Given the description of an element on the screen output the (x, y) to click on. 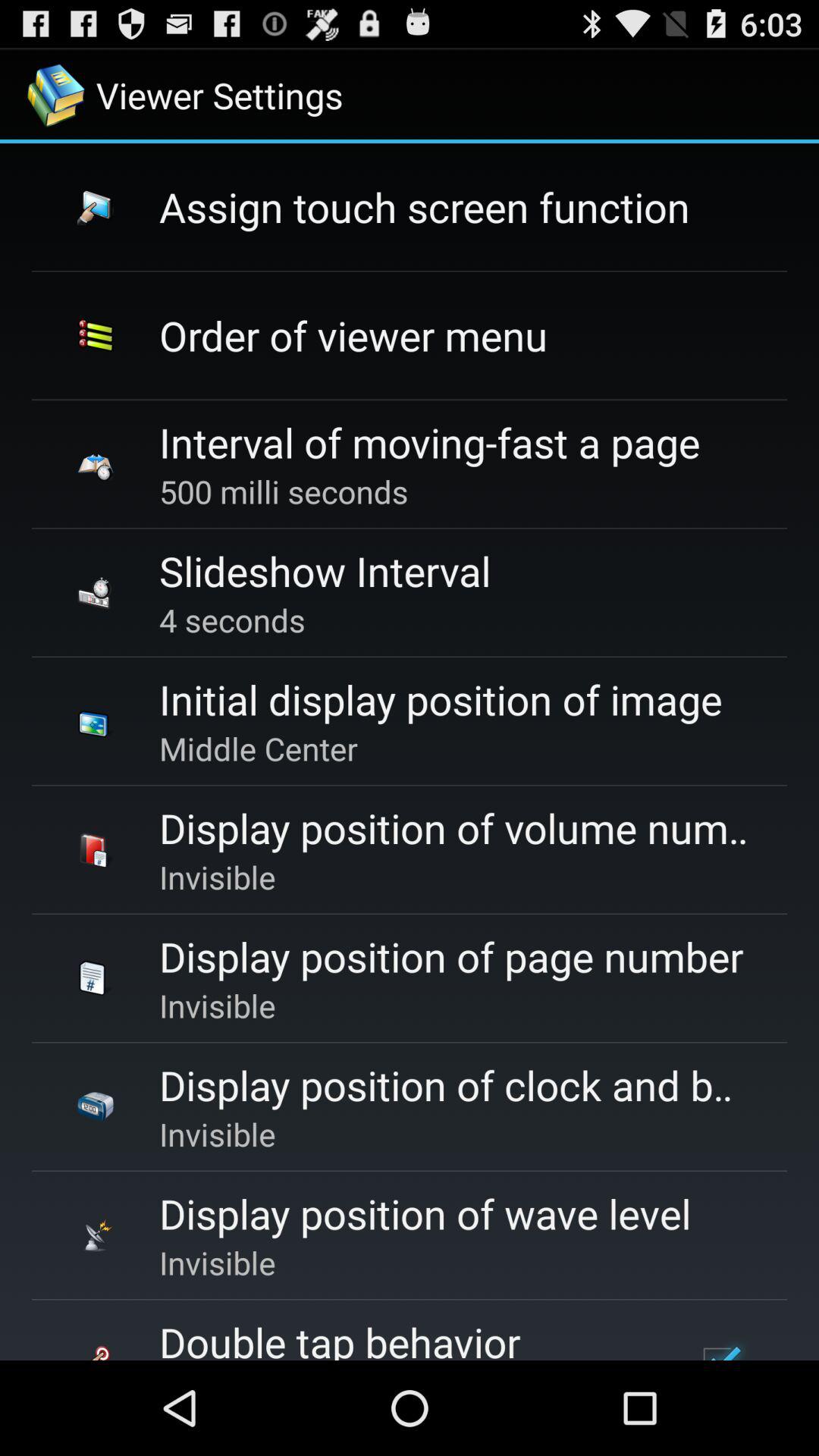
turn off app below the order of viewer (429, 441)
